Given the description of an element on the screen output the (x, y) to click on. 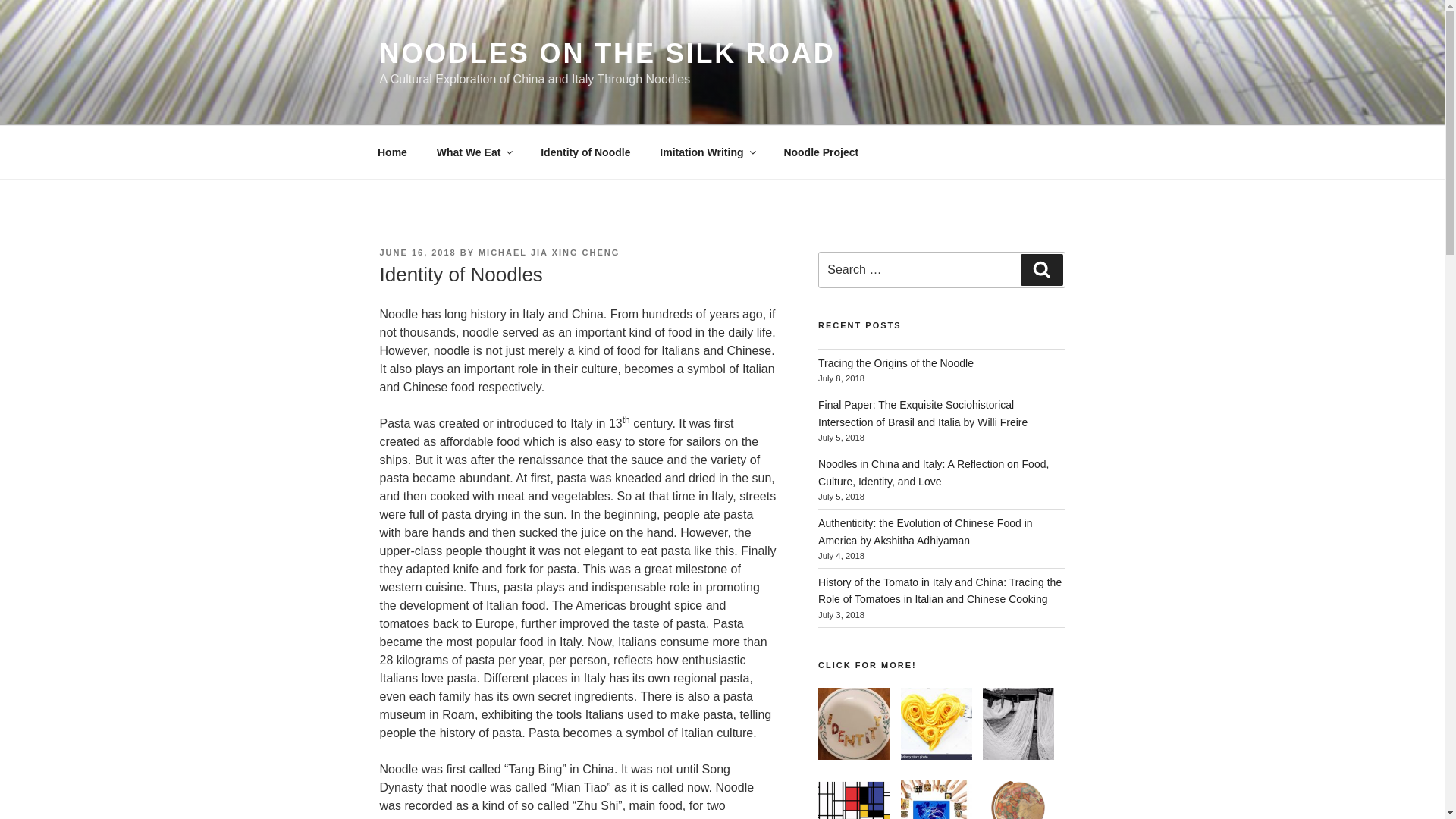
Home (392, 151)
What We Eat (473, 151)
NOODLES ON THE SILK ROAD (606, 52)
